Given the description of an element on the screen output the (x, y) to click on. 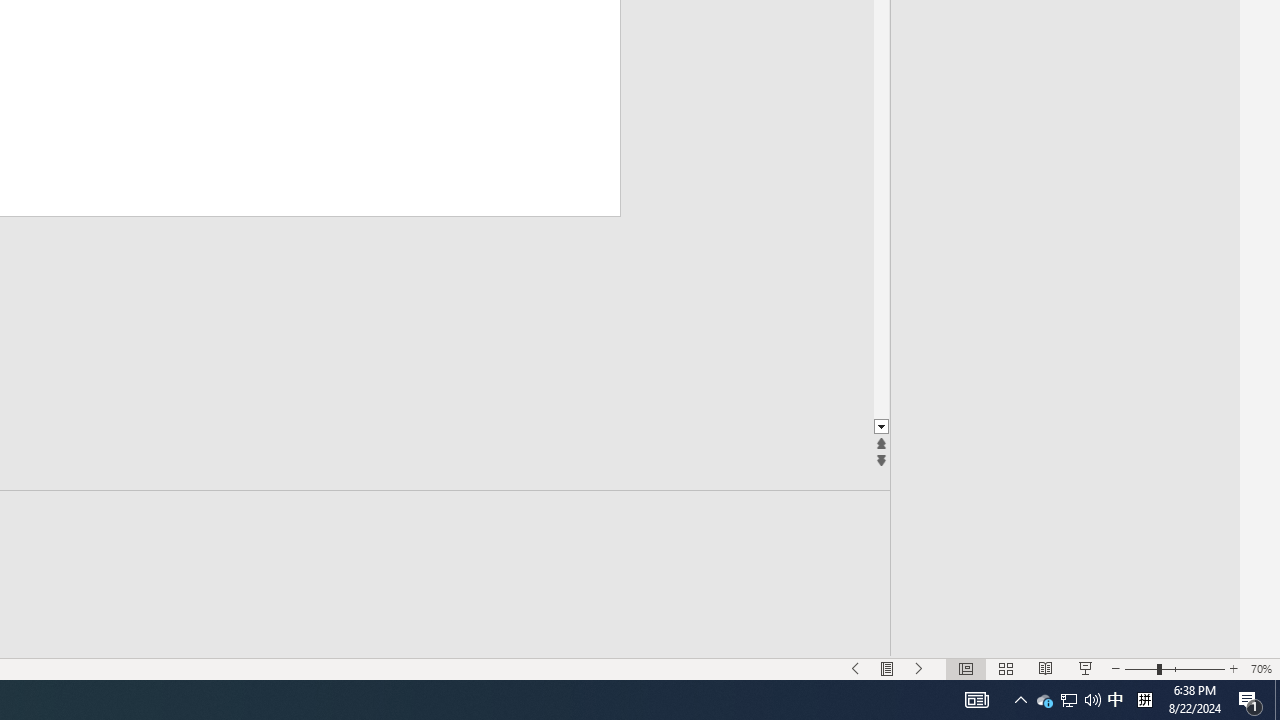
Slide Show Next On (919, 668)
Menu On (887, 668)
Slide Show Previous On (855, 668)
Zoom 70% (1261, 668)
